Given the description of an element on the screen output the (x, y) to click on. 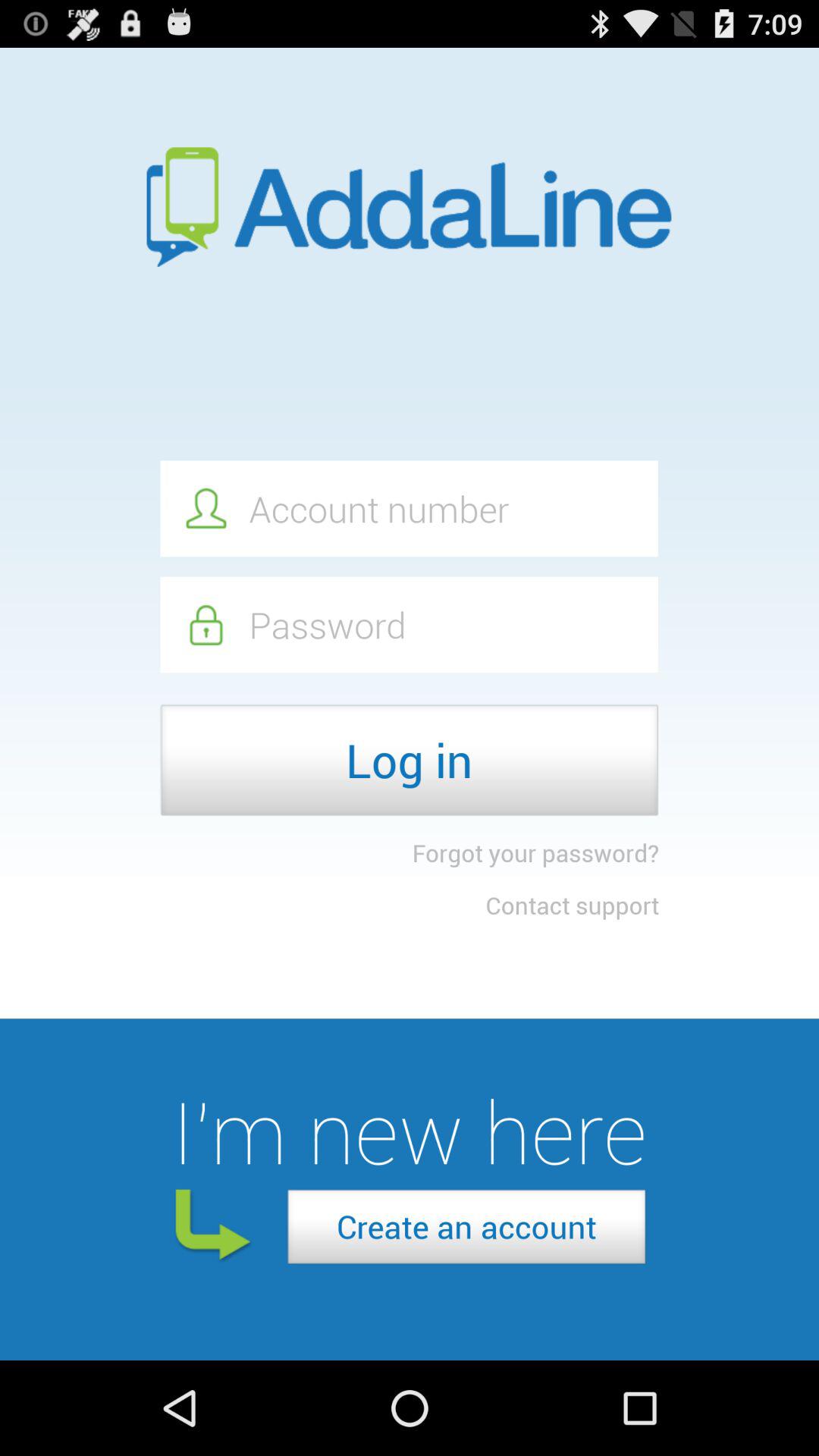
write your password (409, 624)
